Given the description of an element on the screen output the (x, y) to click on. 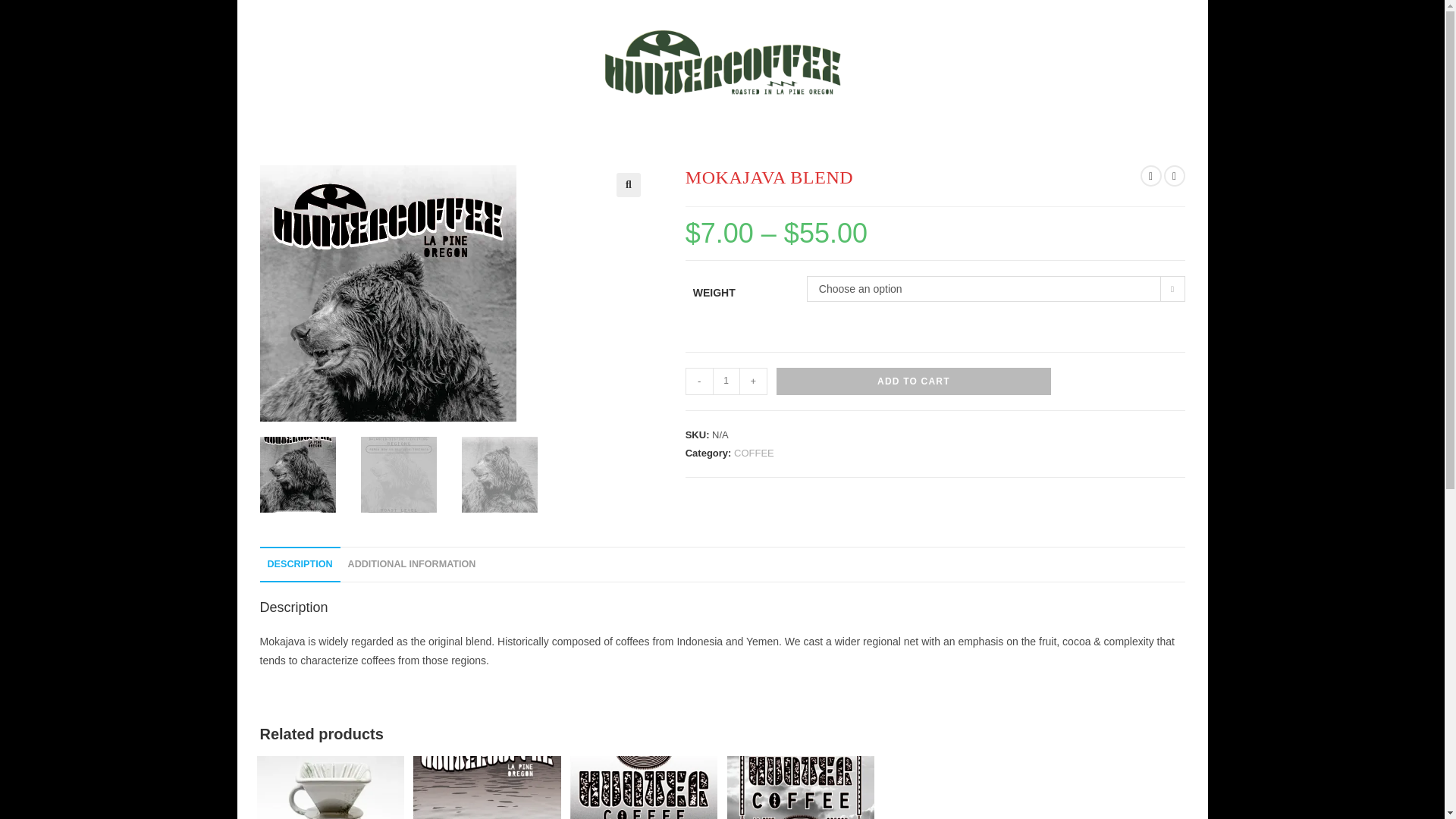
- (699, 380)
2024-type-label-web-03 (387, 350)
ADD TO CART (913, 380)
DESCRIPTION (299, 564)
1 (726, 380)
COFFEE (753, 452)
ADDITIONAL INFORMATION (411, 564)
